Given the description of an element on the screen output the (x, y) to click on. 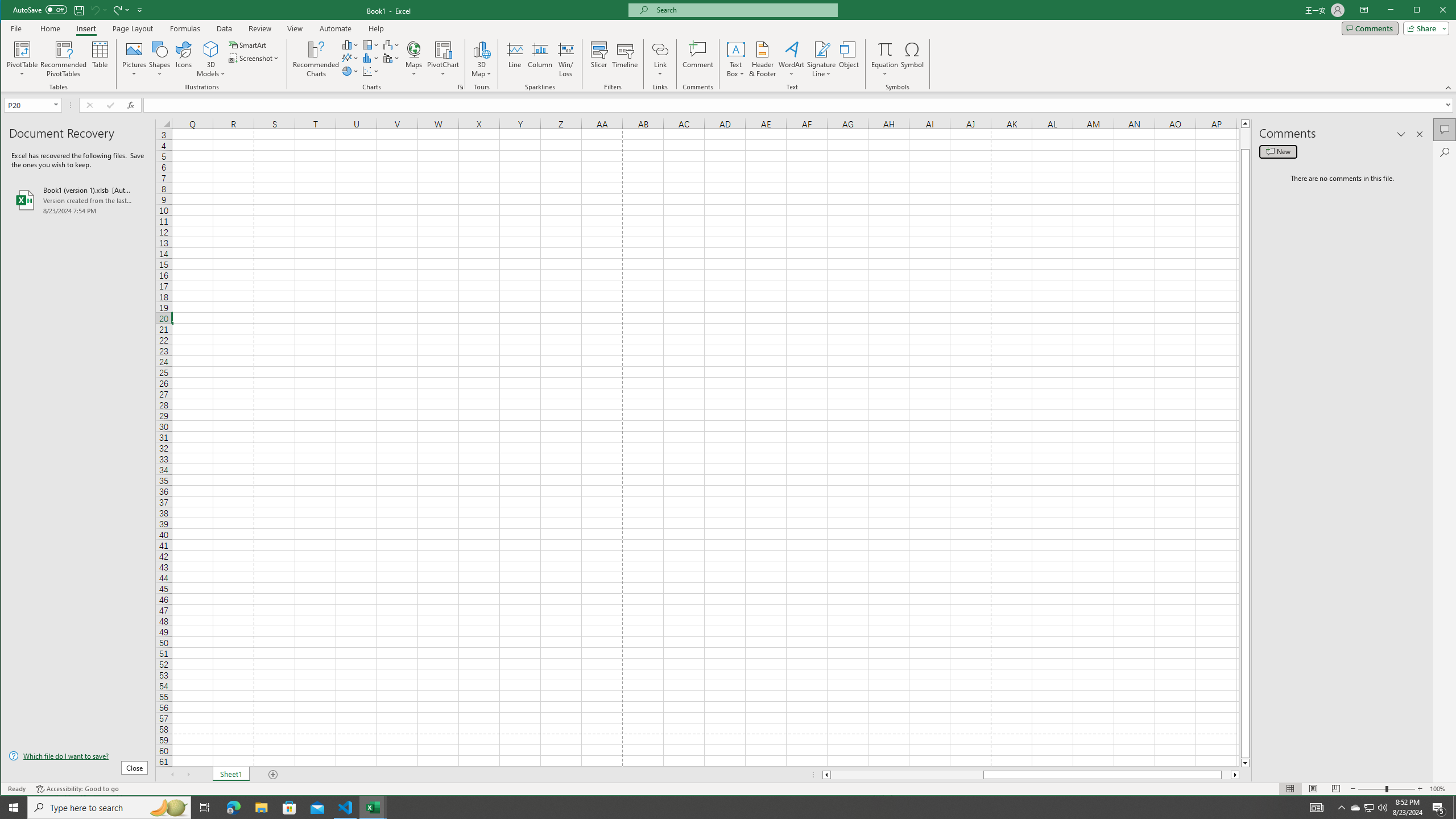
Microsoft Store (289, 807)
Excel - 2 running windows (373, 807)
Column (540, 59)
Task View (204, 807)
Running applications (717, 807)
Shapes (159, 59)
Microsoft search (742, 10)
WordArt (791, 59)
